Given the description of an element on the screen output the (x, y) to click on. 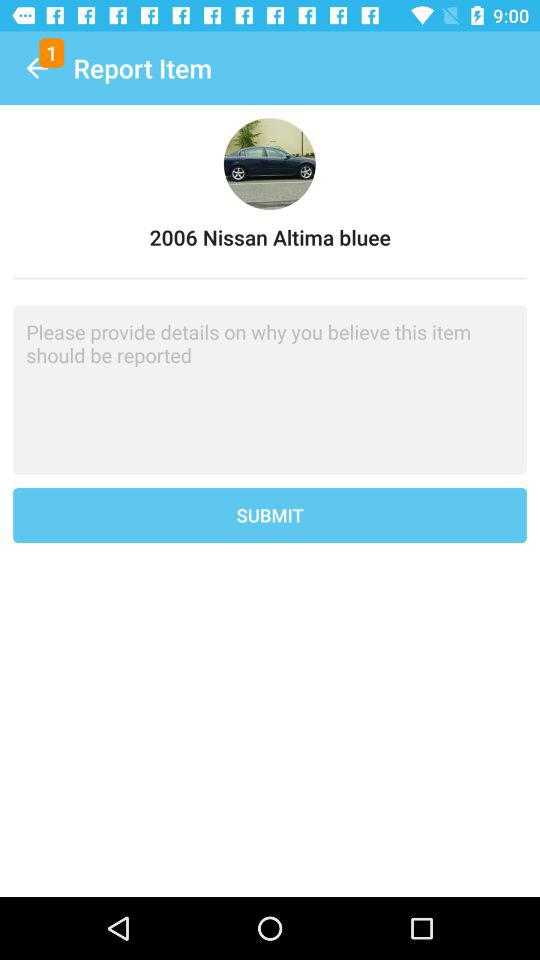
type in details (269, 389)
